Given the description of an element on the screen output the (x, y) to click on. 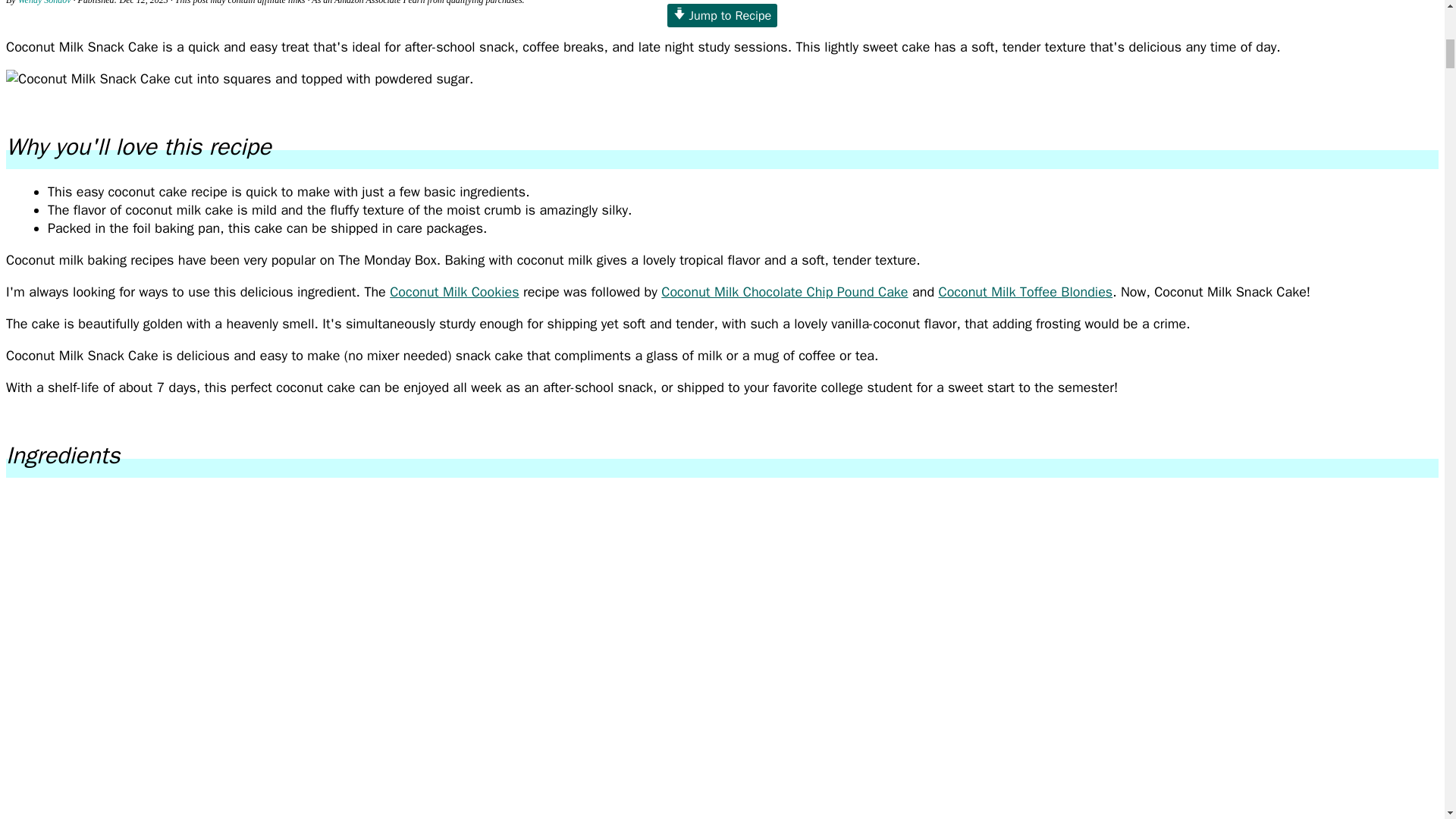
Jump to Recipe (721, 15)
Wendy Sondov (44, 2)
Jump to Recipe (721, 15)
